Given the description of an element on the screen output the (x, y) to click on. 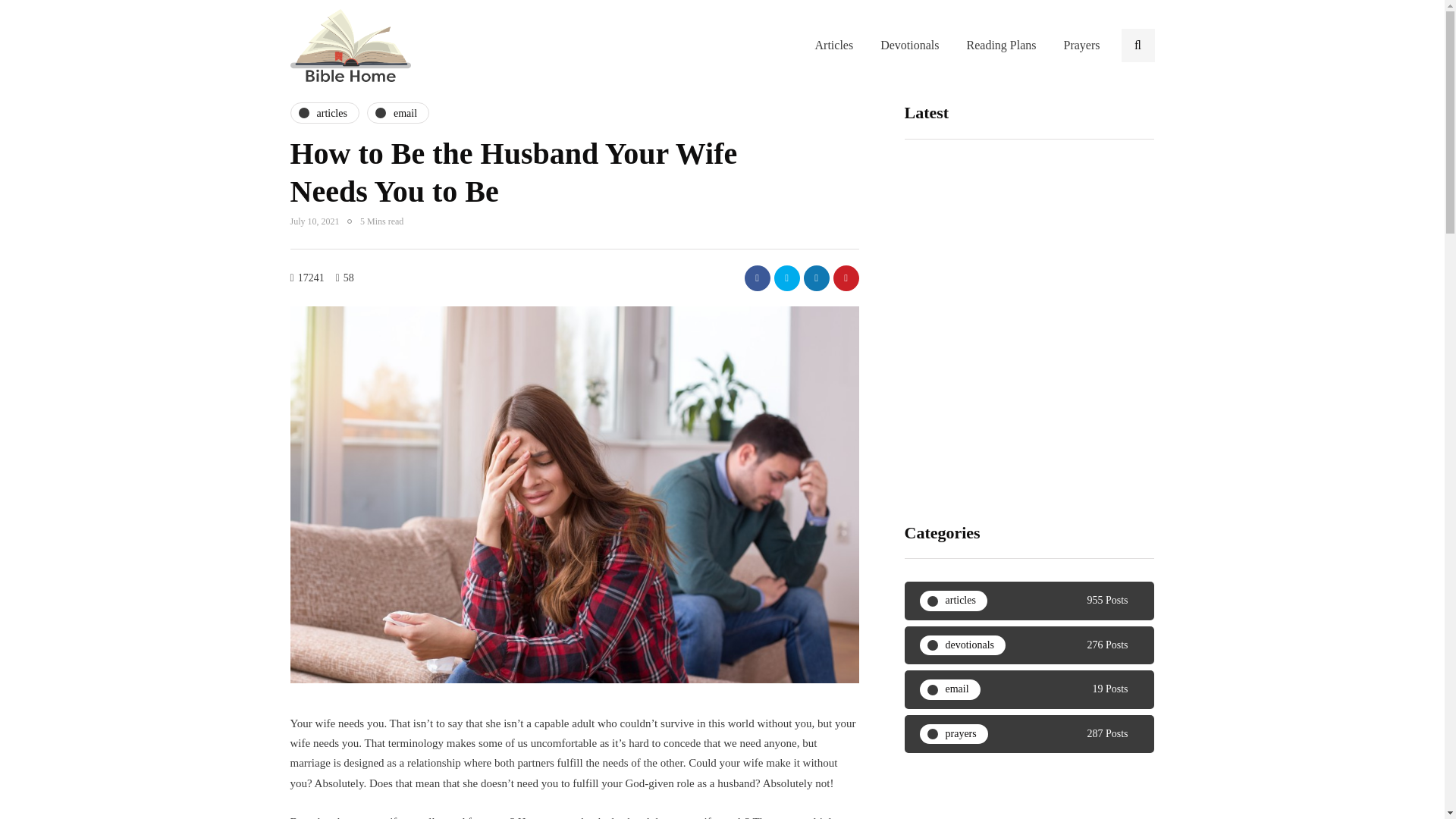
Articles (834, 45)
Prayers (1081, 45)
email (397, 112)
Reading Plans (1001, 45)
articles (323, 112)
Tweet this (786, 278)
Devotionals (909, 45)
Share with LinkedIn (816, 278)
Pin this (845, 278)
Share with Facebook (757, 278)
